Given the description of an element on the screen output the (x, y) to click on. 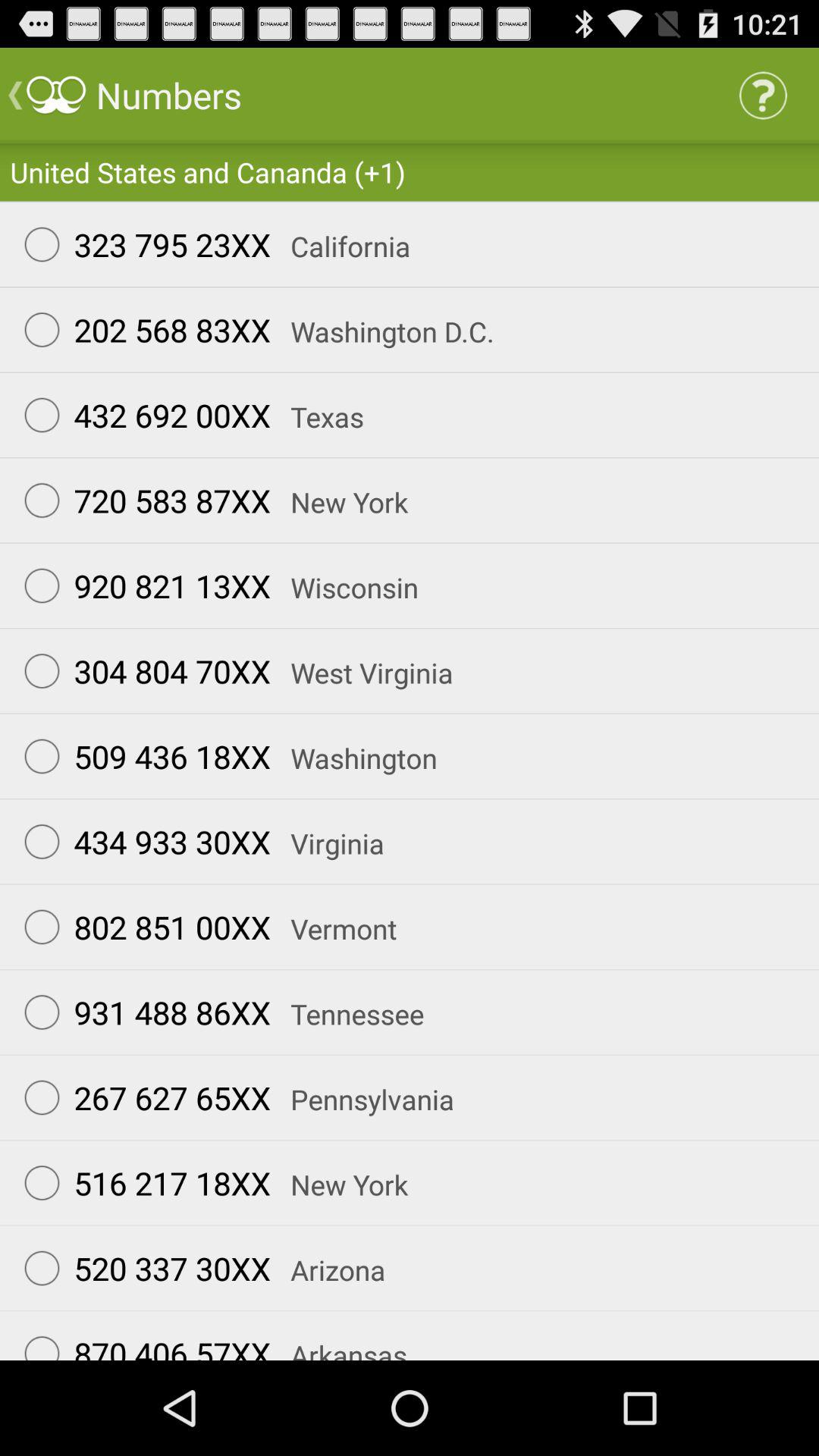
open item to the left of the washington d.c. icon (140, 329)
